Given the description of an element on the screen output the (x, y) to click on. 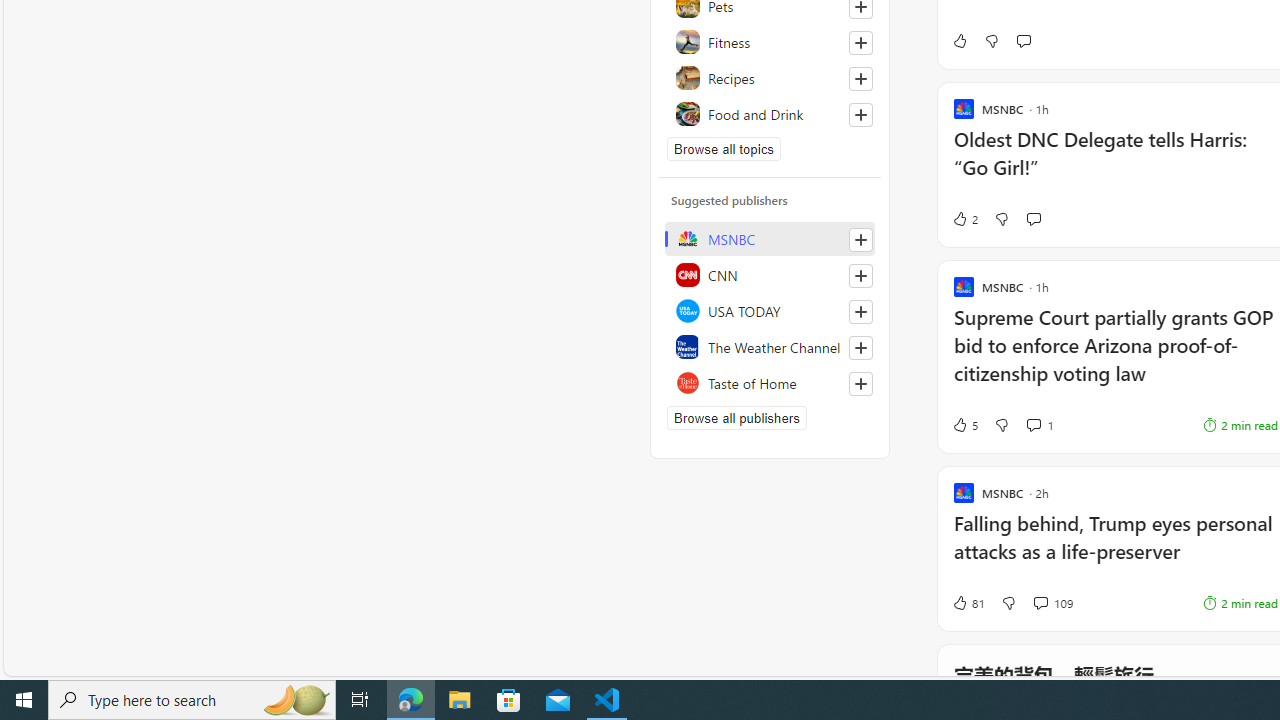
MSNBC (770, 238)
2 Like (964, 219)
The Weather Channel (770, 346)
Recipes (770, 78)
Browse all topics (724, 148)
View comments 109 Comment (1040, 602)
Food and Drink (770, 114)
Browse all publishers (736, 417)
View comments 1 Comment (1033, 424)
View comments 109 Comment (1052, 602)
Fitness (770, 42)
Like (959, 40)
USA TODAY (770, 310)
